Given the description of an element on the screen output the (x, y) to click on. 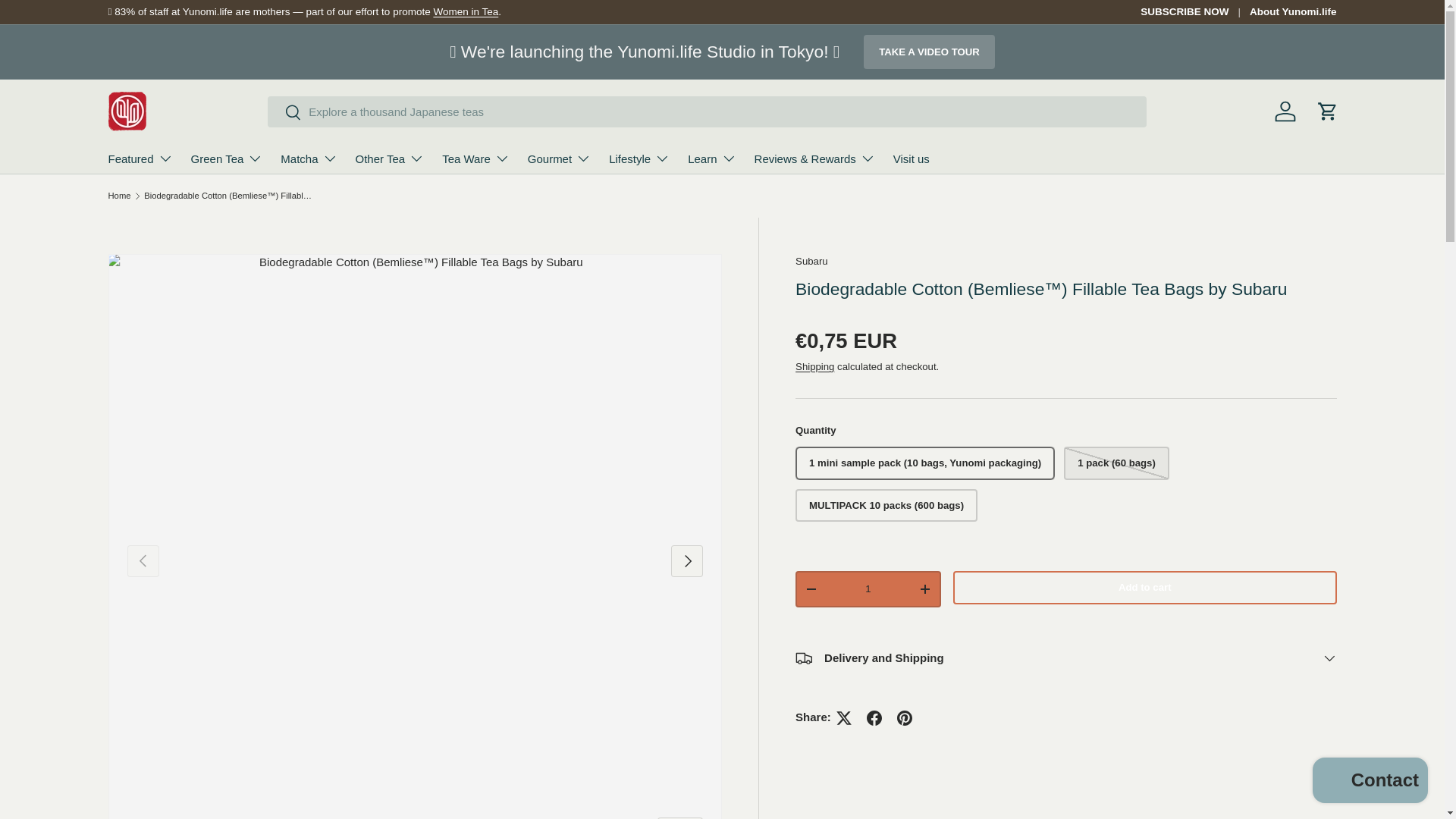
Tweet on X (843, 717)
Share on Facebook (874, 717)
Search (284, 113)
Featured (139, 158)
Log in (1284, 111)
SUBSCRIBE NOW (1194, 11)
TAKE A VIDEO TOUR (928, 51)
About Yunomi.life (1292, 11)
Pin on Pinterest (904, 717)
Women in Tea (464, 11)
